Given the description of an element on the screen output the (x, y) to click on. 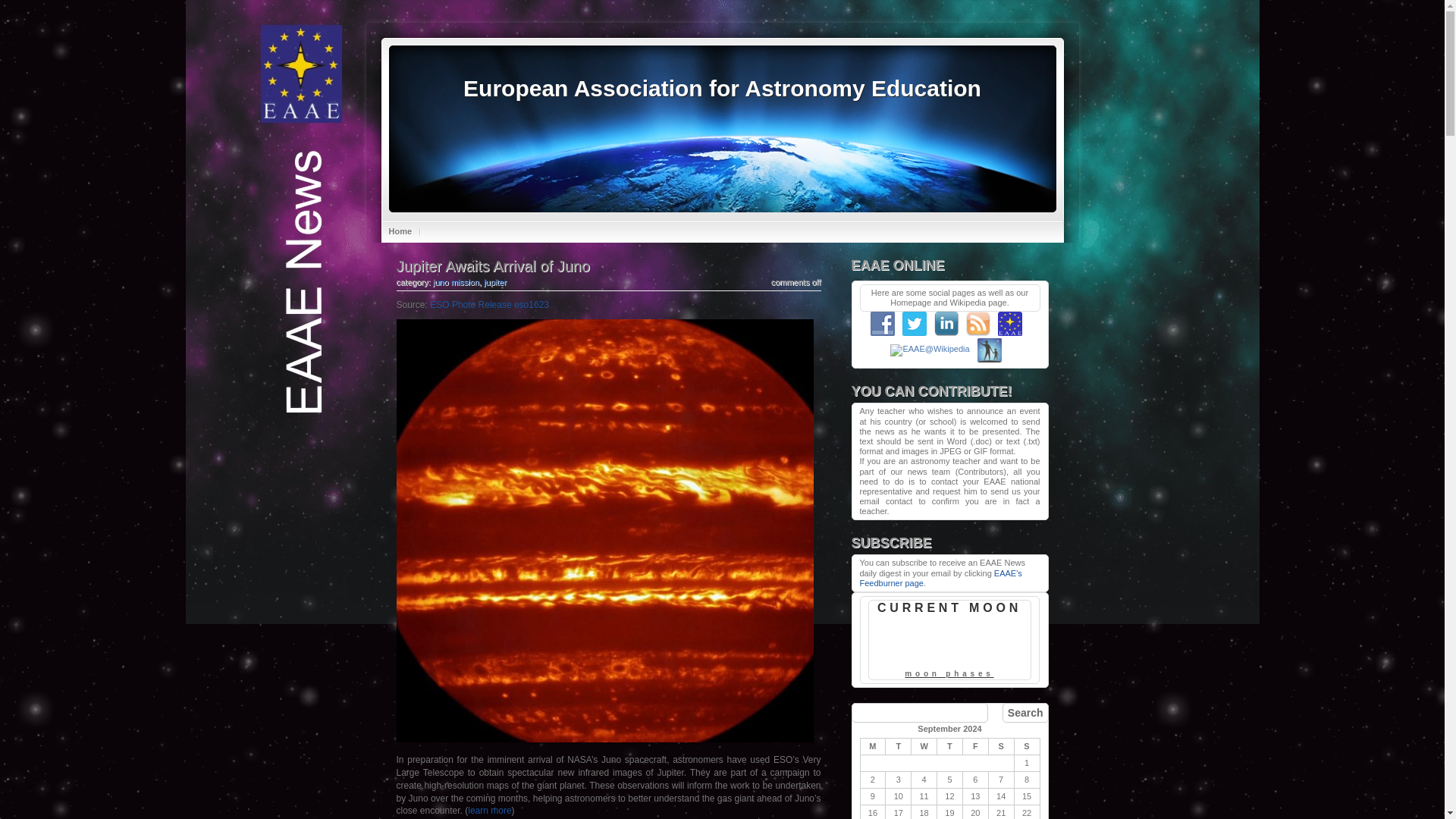
Home (400, 231)
learn more (489, 810)
Jupiter Awaits Arrival of Juno (492, 265)
ESO Photo Release eso1623 (488, 304)
Search (1025, 712)
European Association for Astronomy Education (722, 88)
jupiter (494, 281)
juno mission (455, 281)
